Given the description of an element on the screen output the (x, y) to click on. 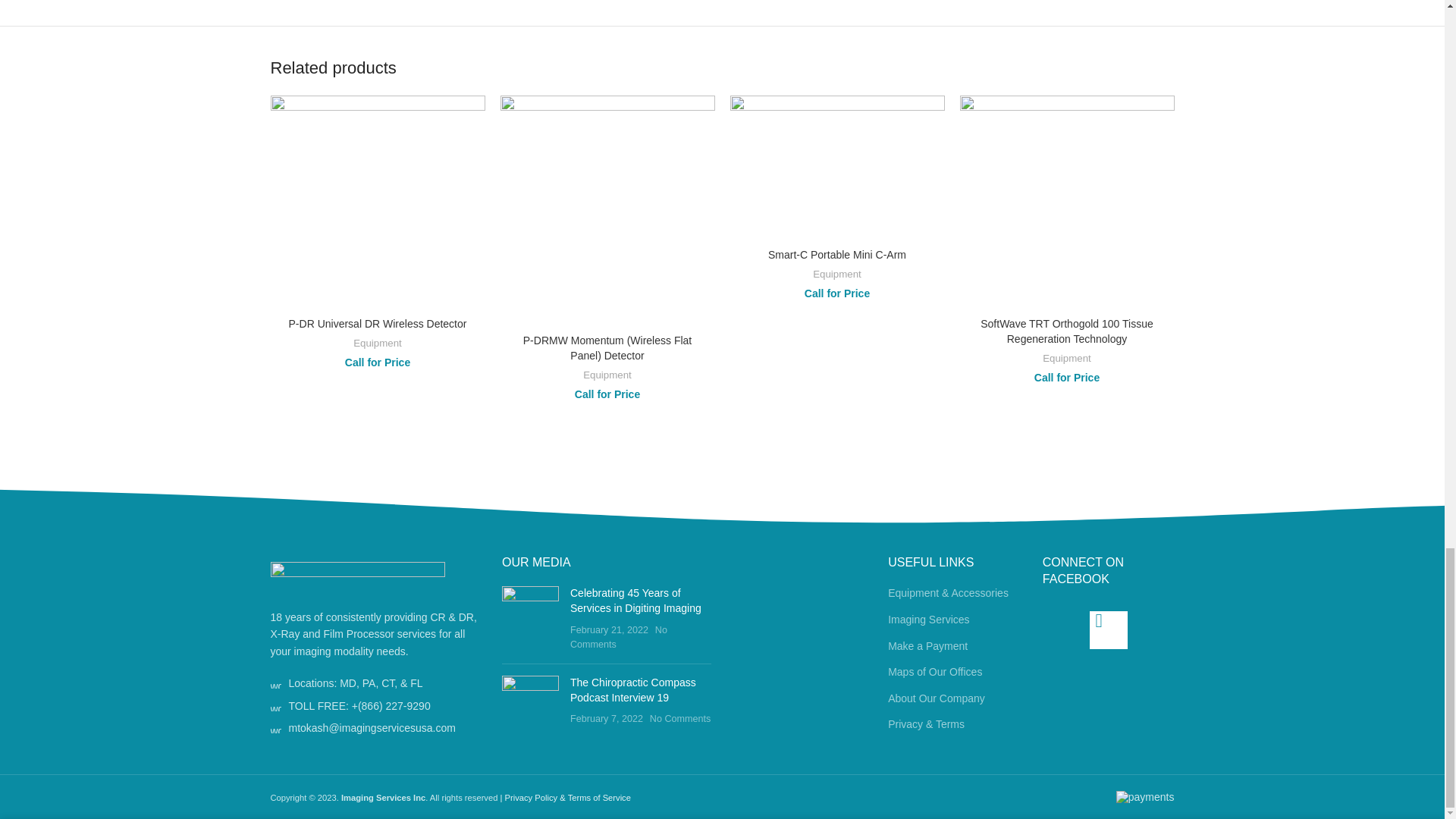
wd-cursor-light.svg (275, 683)
wd-phone-light.svg (275, 706)
Permalink to The Chiropractic Compass Podcast Interview 19 (632, 689)
wd-envelope-light.svg (275, 727)
